Given the description of an element on the screen output the (x, y) to click on. 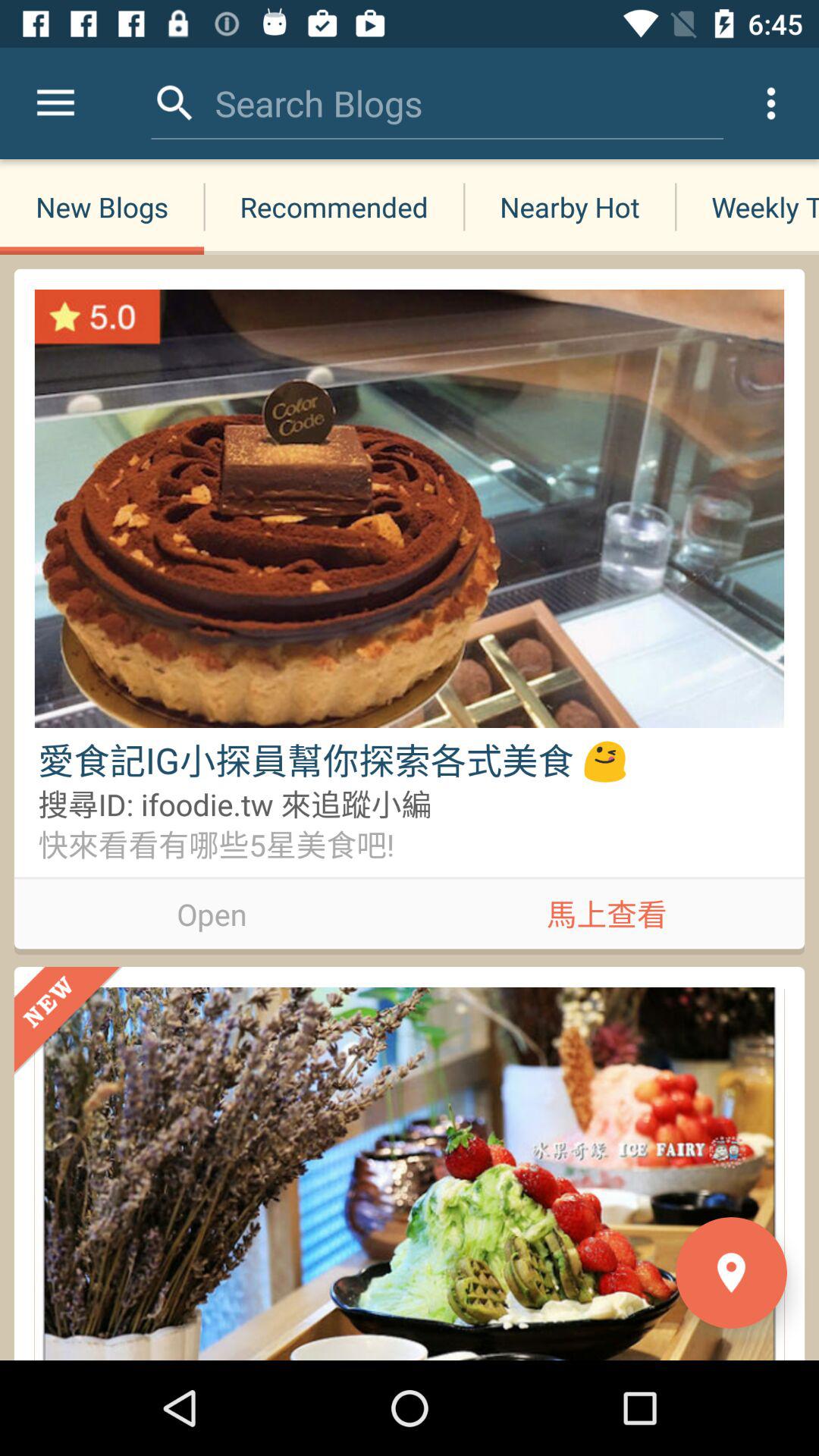
turn on the search blogs item (318, 103)
